Given the description of an element on the screen output the (x, y) to click on. 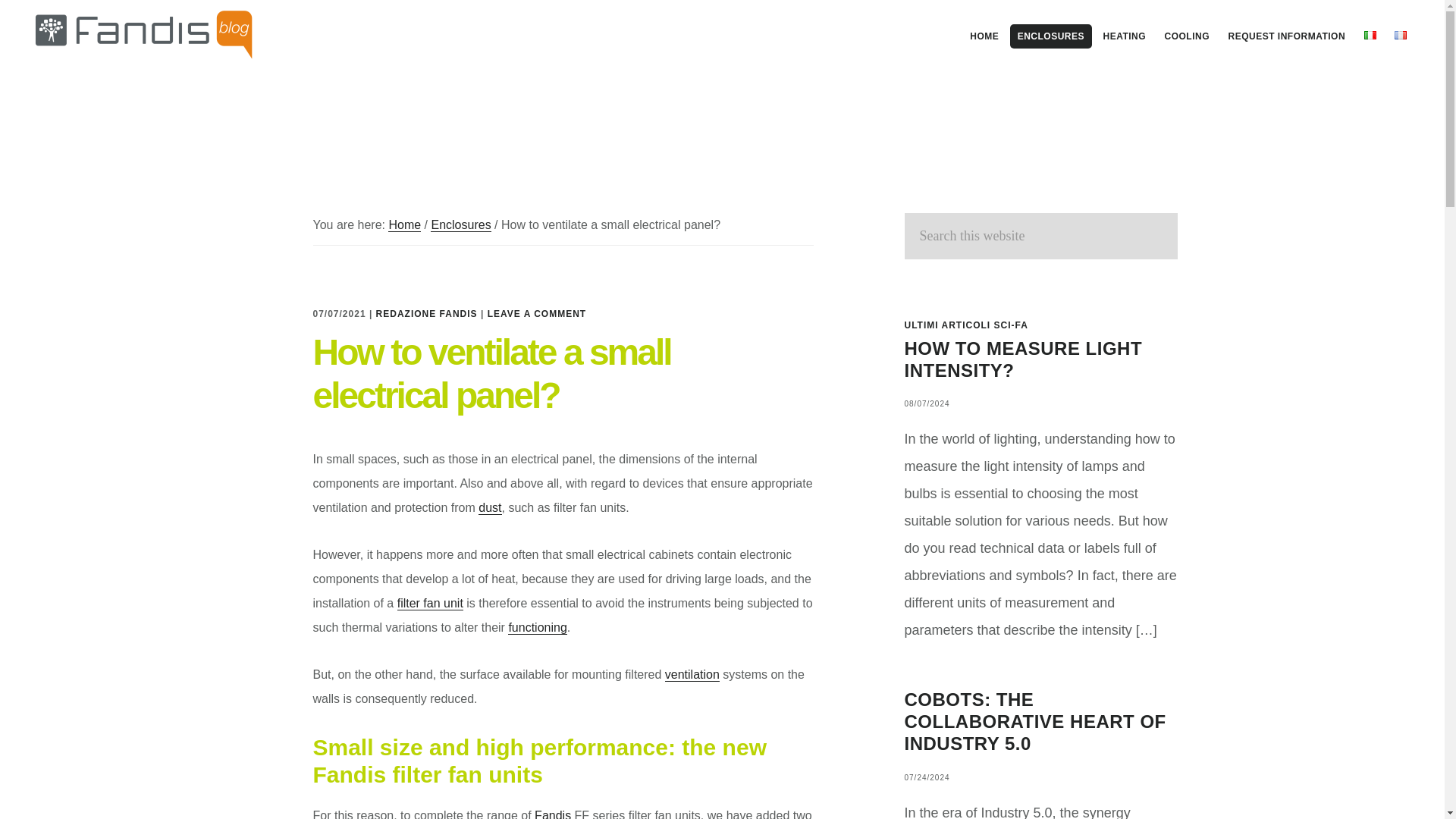
ENCLOSURES (1051, 36)
Fandis (552, 814)
Home (404, 224)
LEAVE A COMMENT (536, 312)
COOLING (1187, 36)
HOW TO MEASURE LIGHT INTENSITY? (1022, 359)
dust (489, 508)
REDAZIONE FANDIS (426, 312)
